Given the description of an element on the screen output the (x, y) to click on. 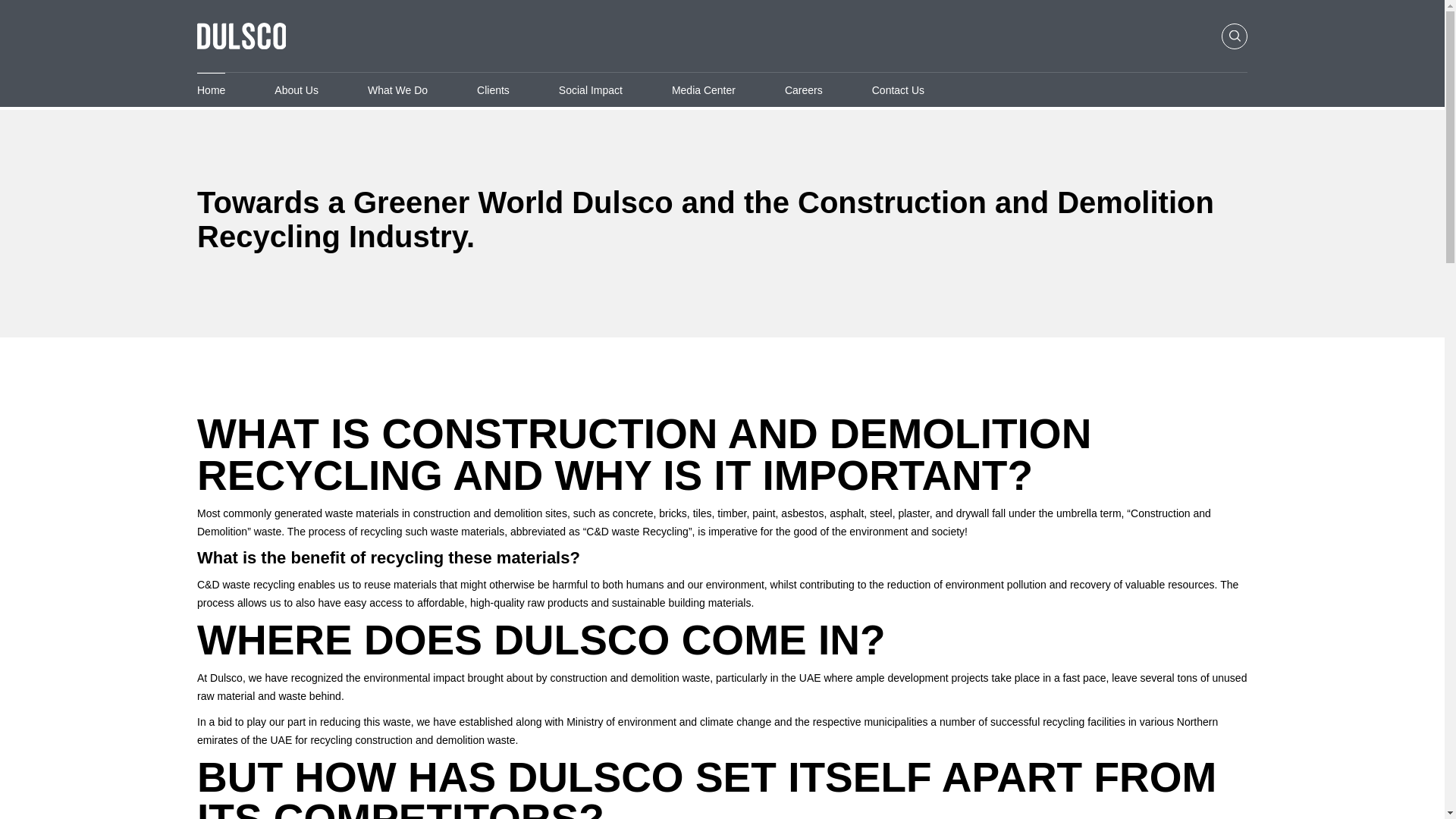
What We Do (398, 89)
Contact Us (898, 89)
About Us (296, 89)
Careers (803, 89)
Media Center (703, 89)
Clients (493, 89)
Social Impact (591, 89)
